Given the description of an element on the screen output the (x, y) to click on. 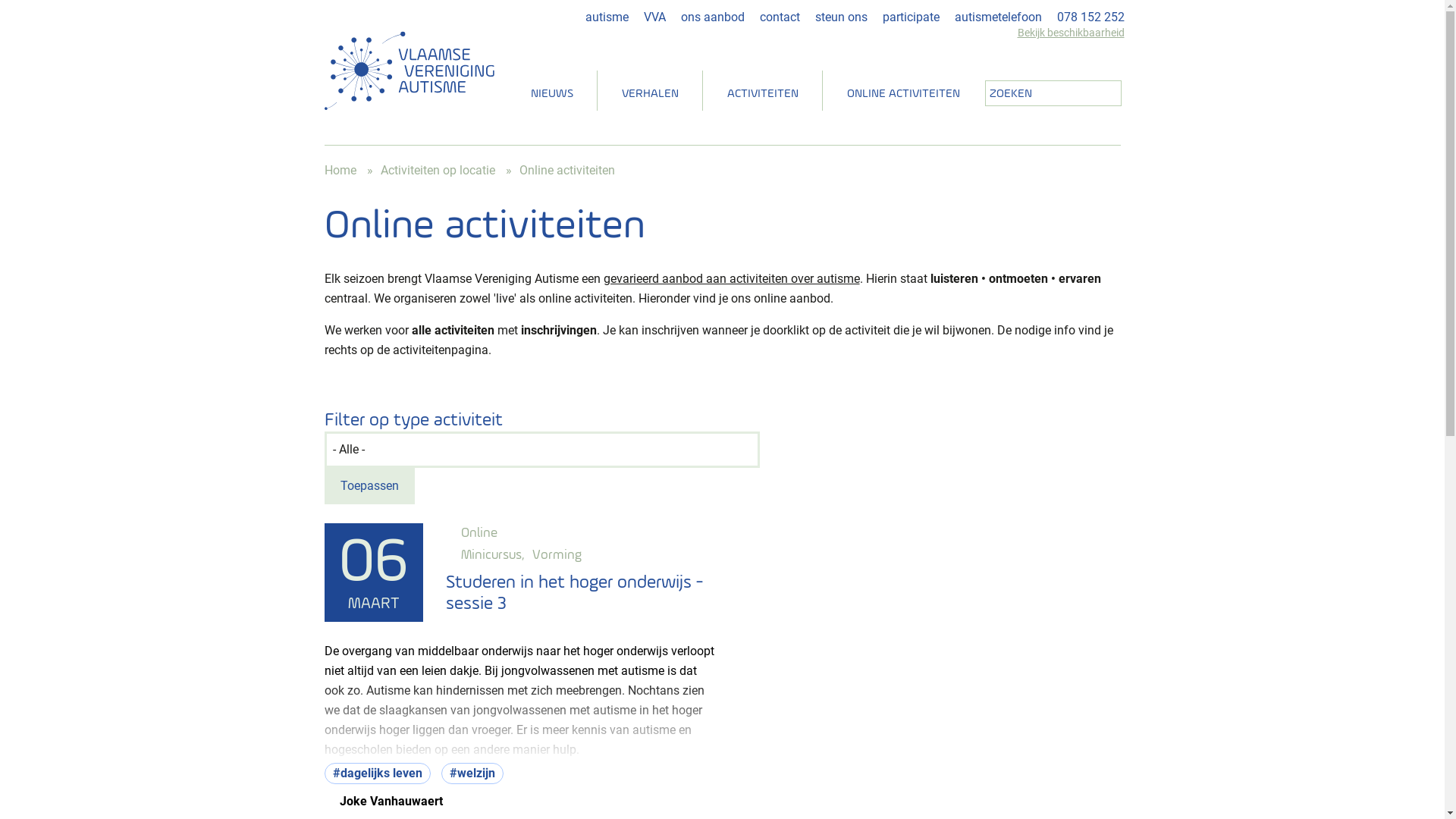
VERHALEN Element type: text (649, 93)
autismetelefoon Element type: text (997, 16)
Zoeken Element type: text (1104, 95)
dagelijks leven Element type: text (377, 773)
Activiteiten op locatie Element type: text (437, 170)
welzijn Element type: text (472, 773)
Home Element type: text (340, 170)
ONLINE ACTIVITEITEN Element type: text (902, 93)
autisme Element type: text (606, 16)
Overslaan en naar de inhoud gaan Element type: text (0, 0)
ons aanbod Element type: text (712, 16)
Toepassen Element type: text (369, 485)
VVA Element type: text (654, 16)
Studeren in het hoger onderwijs - sessie 3 Element type: text (573, 593)
ACTIVITEITEN Element type: text (761, 93)
gevarieerd aanbod aan activiteiten over autisme Element type: text (731, 278)
NIEUWS Element type: text (551, 93)
participate Element type: text (910, 16)
steun ons Element type: text (840, 16)
Bekijk beschikbaarheid Element type: text (1066, 32)
078 152 252 Element type: text (1090, 16)
contact Element type: text (779, 16)
